Given the description of an element on the screen output the (x, y) to click on. 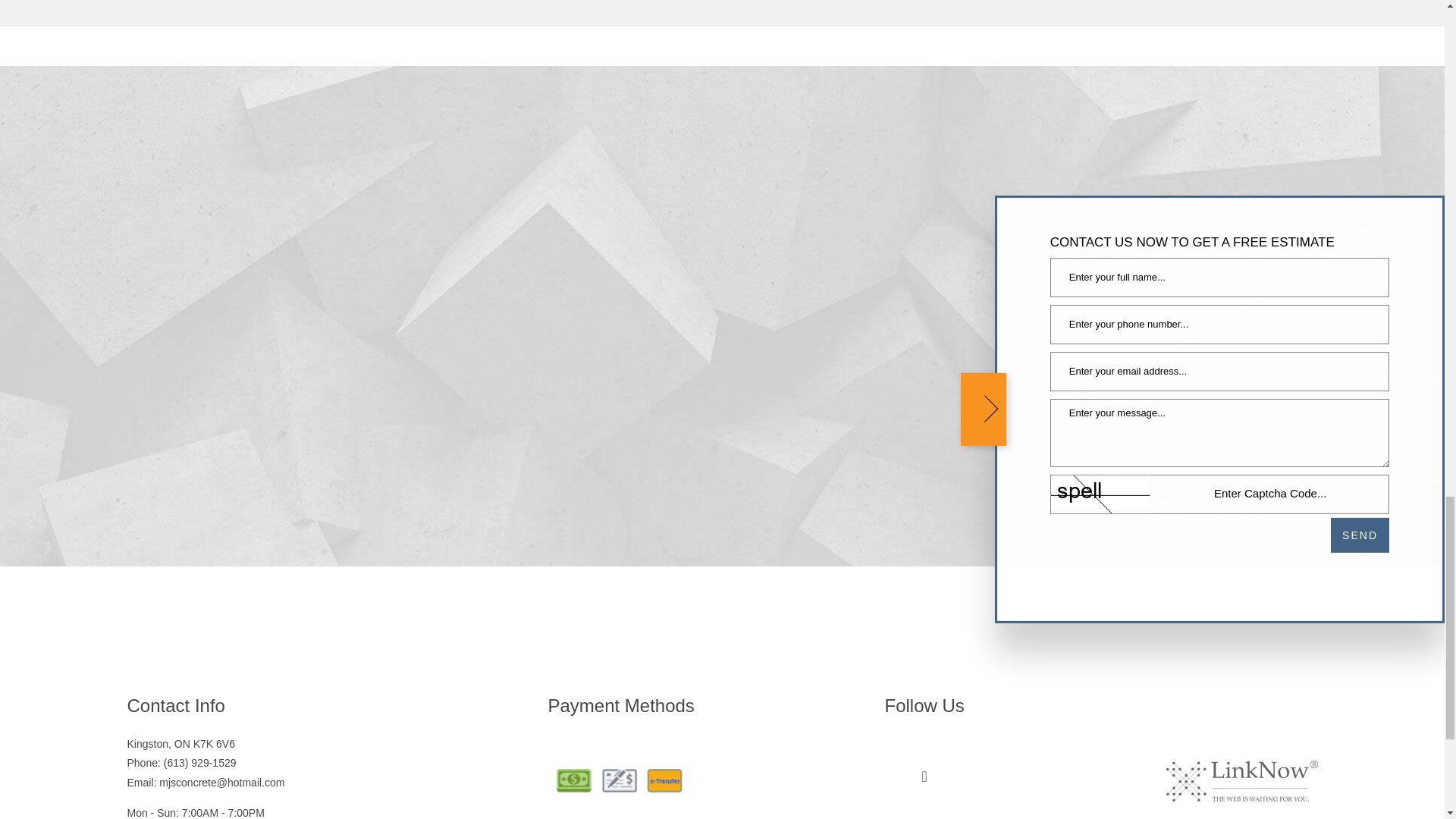
Cash (573, 780)
E-Transfer (663, 780)
Check (619, 780)
